Given the description of an element on the screen output the (x, y) to click on. 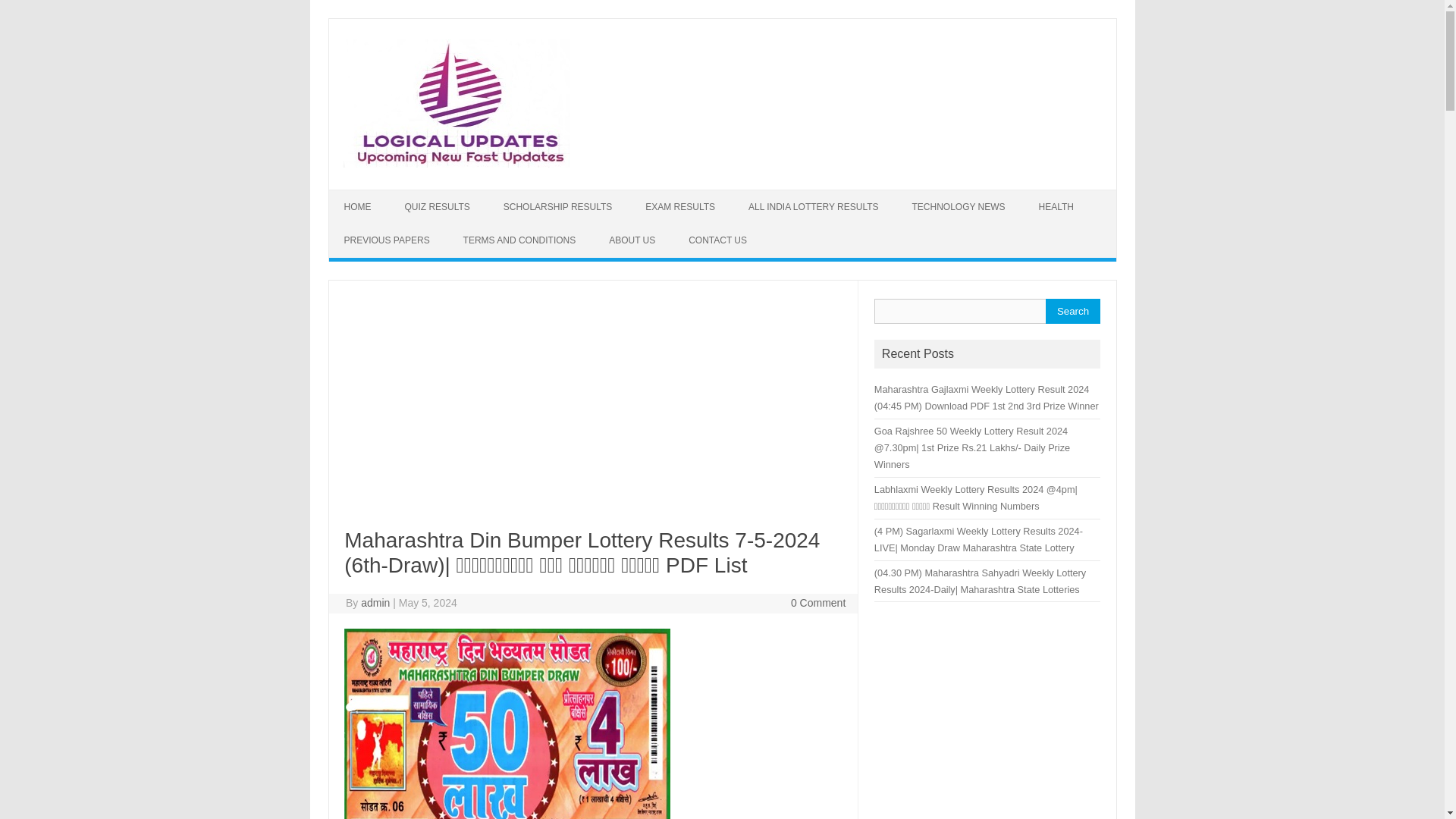
SCHOLARSHIP RESULTS (557, 206)
ALL INDIA LOTTERY RESULTS (813, 206)
QUIZ RESULTS (436, 206)
Search (1072, 310)
0 Comment (817, 603)
PREVIOUS PAPERS (387, 240)
admin (375, 603)
Skip to content (363, 194)
HOME (358, 206)
TECHNOLOGY NEWS (958, 206)
Search (1072, 310)
LogicalUpdates (454, 163)
Posts by admin (375, 603)
Advertisement (592, 415)
TERMS AND CONDITIONS (519, 240)
